Given the description of an element on the screen output the (x, y) to click on. 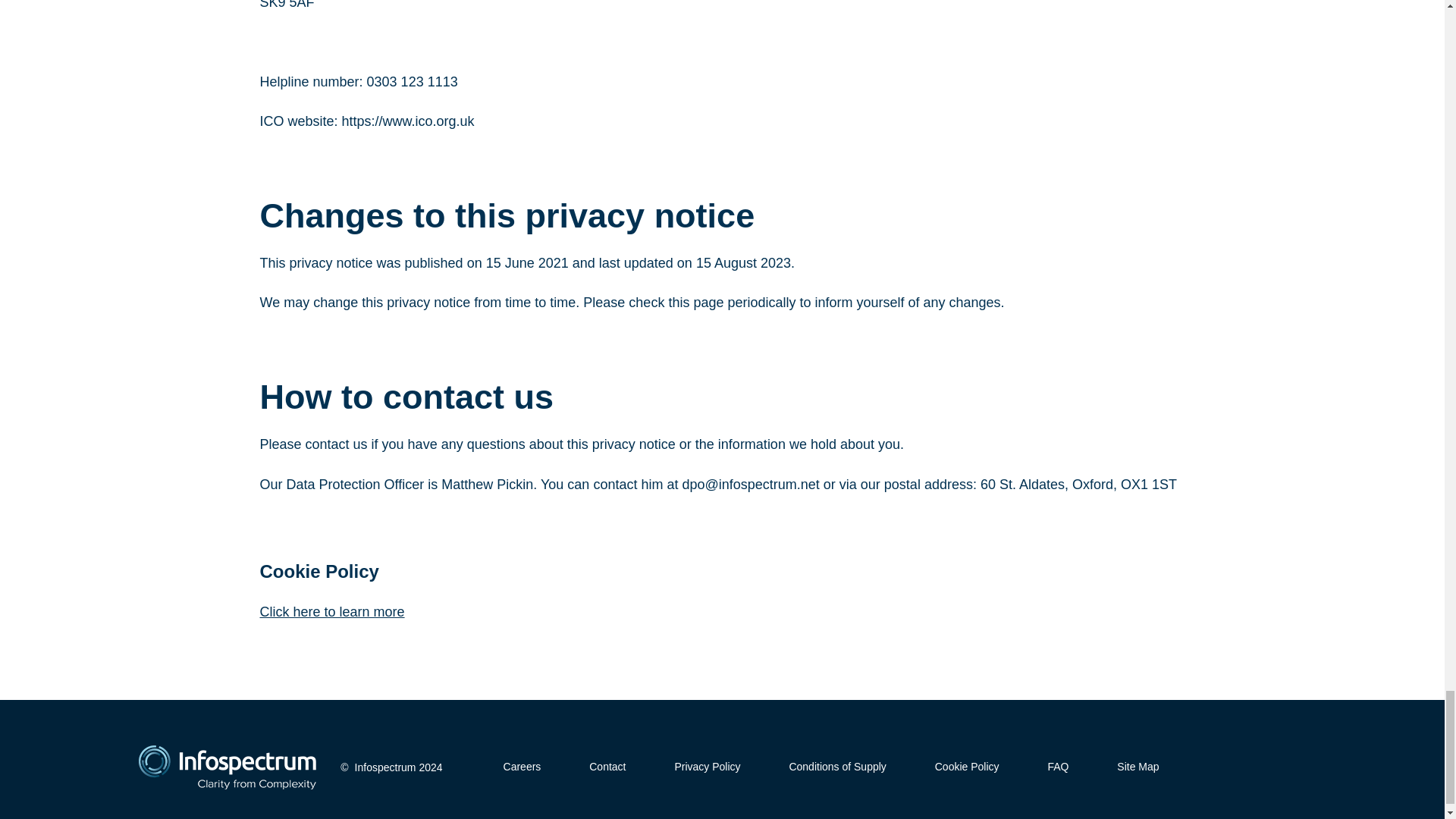
Careers (522, 766)
visit linkedin page (1247, 766)
Conditions of Supply (837, 766)
Contact (607, 766)
Privacy Policy (706, 766)
go to homepage (226, 767)
Cookie Policy (966, 766)
visit twitter page (1220, 766)
Site Map (1137, 766)
FAQ (1057, 766)
